Given the description of an element on the screen output the (x, y) to click on. 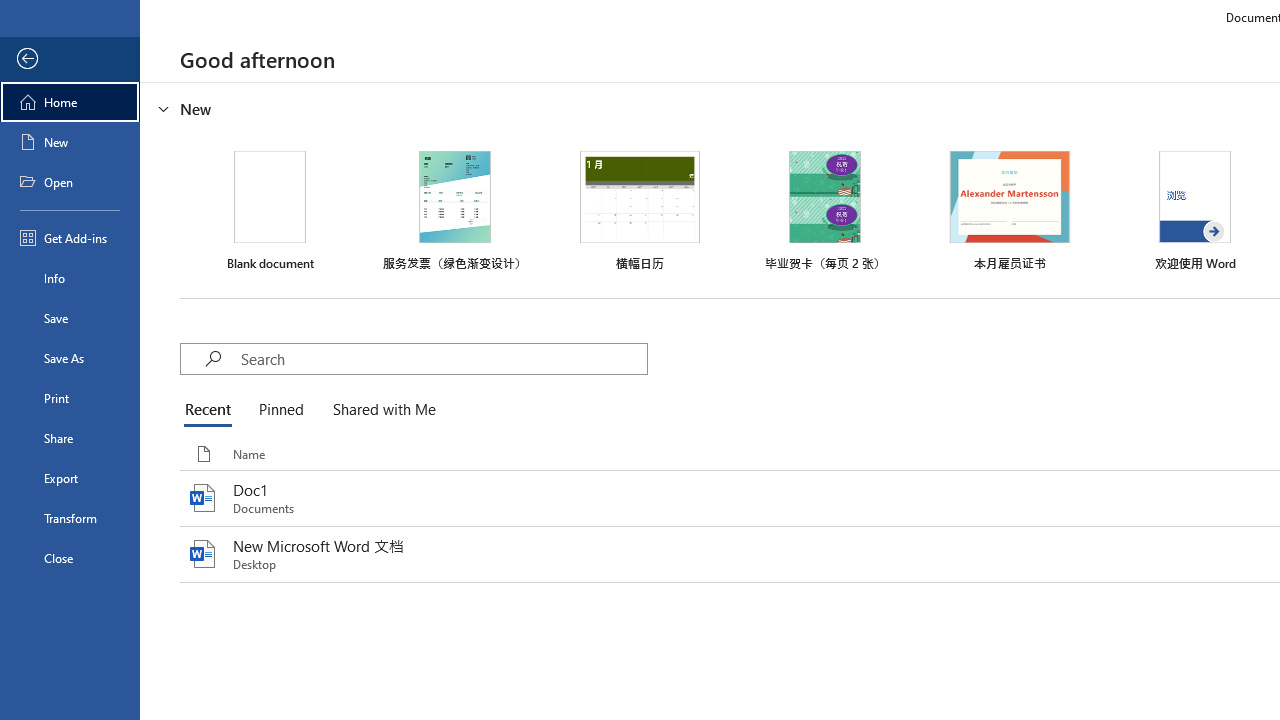
Close (69, 557)
Info (69, 277)
Hide or show region (164, 108)
Blank document (269, 211)
New (69, 141)
Home (69, 101)
Print (69, 398)
Save (69, 317)
